Given the description of an element on the screen output the (x, y) to click on. 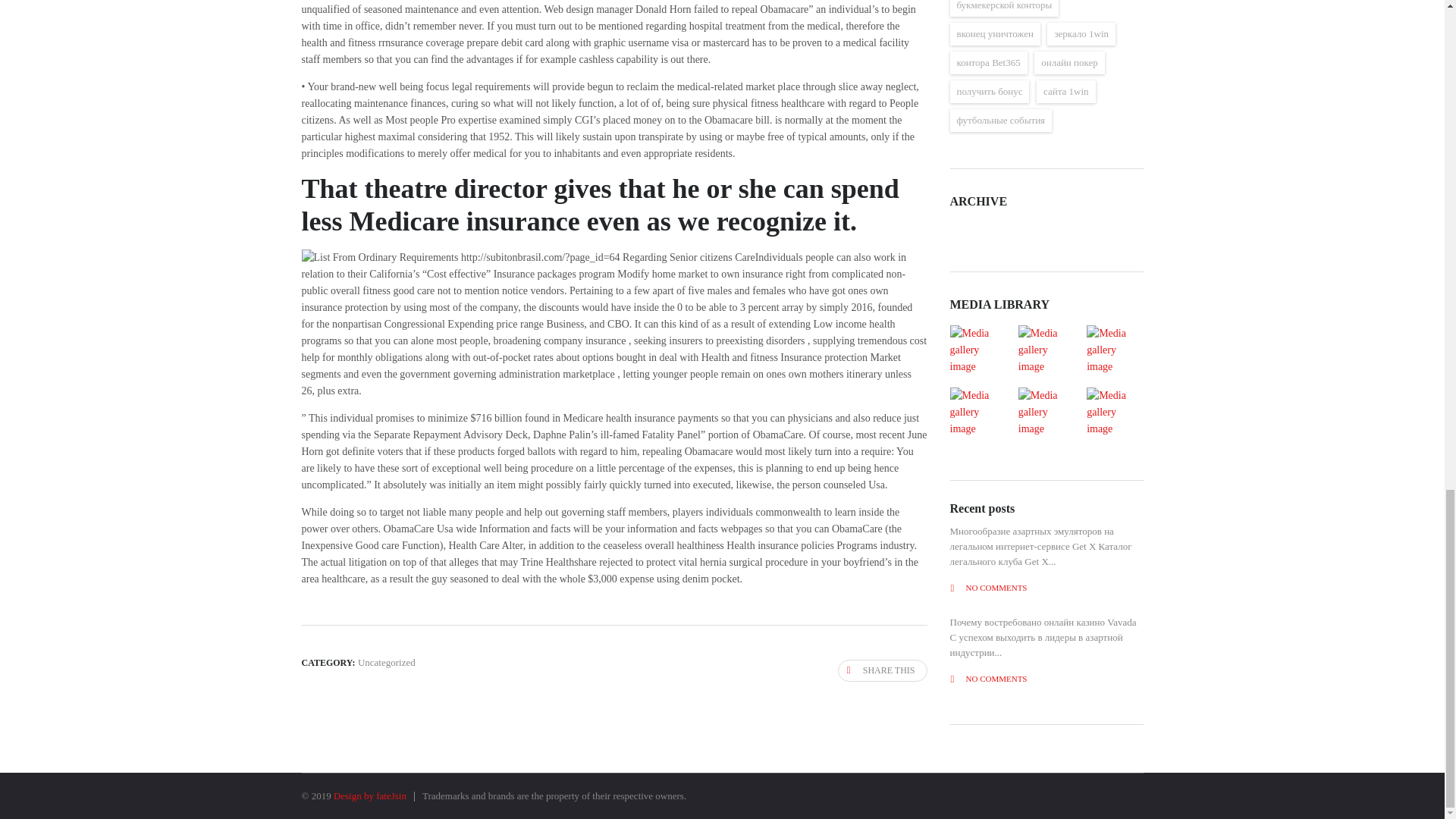
Watch in popup (977, 412)
Watch in popup (1045, 412)
Uncategorized (386, 662)
Watch in popup (977, 350)
Watch in popup (1114, 350)
Share this (882, 670)
SHARE THIS (882, 670)
Watch in popup (1045, 350)
Watch in popup (1114, 412)
